Given the description of an element on the screen output the (x, y) to click on. 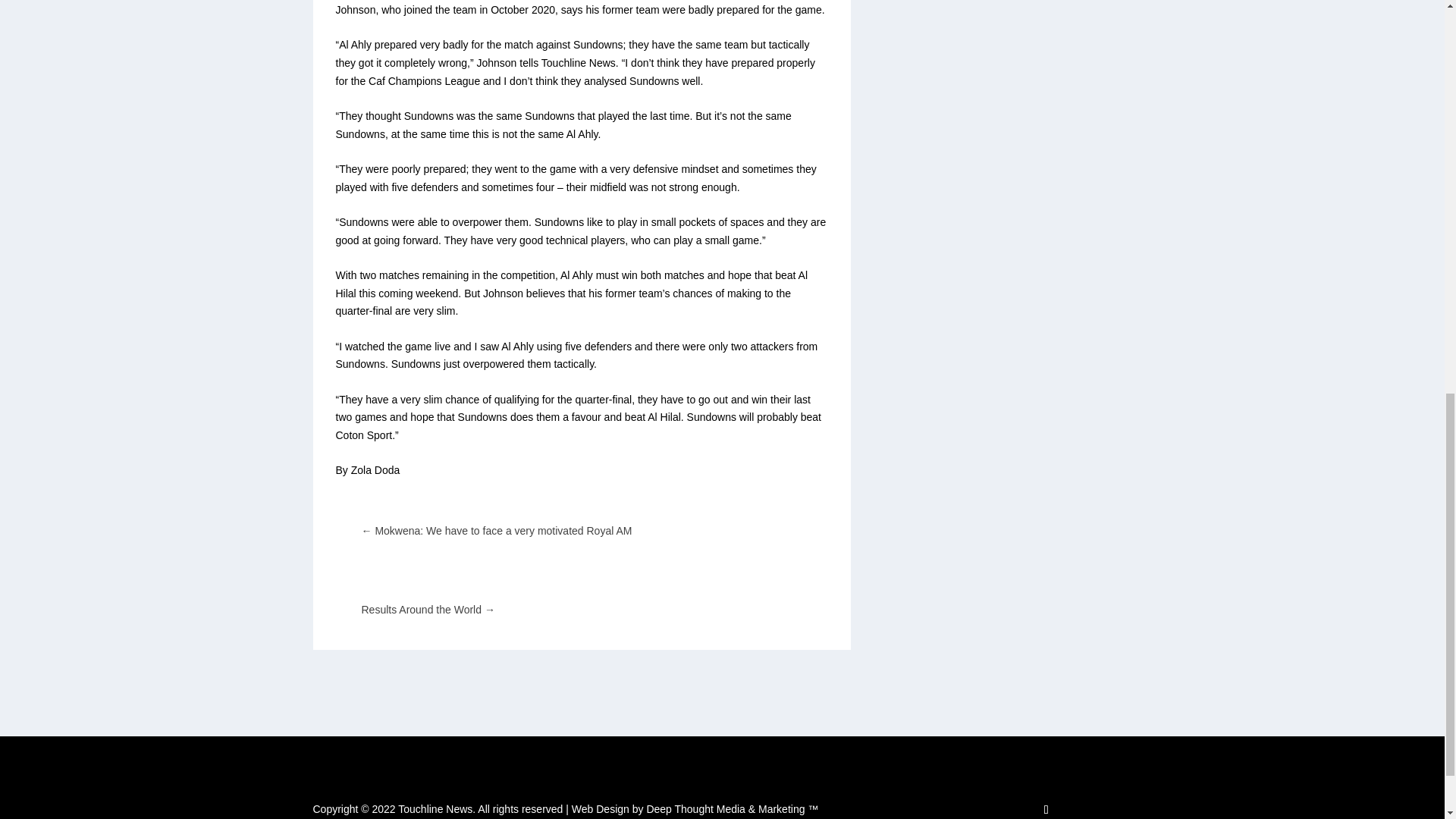
Follow on Twitter (1045, 808)
Digital Marketing Company Cape Town (695, 808)
